Given the description of an element on the screen output the (x, y) to click on. 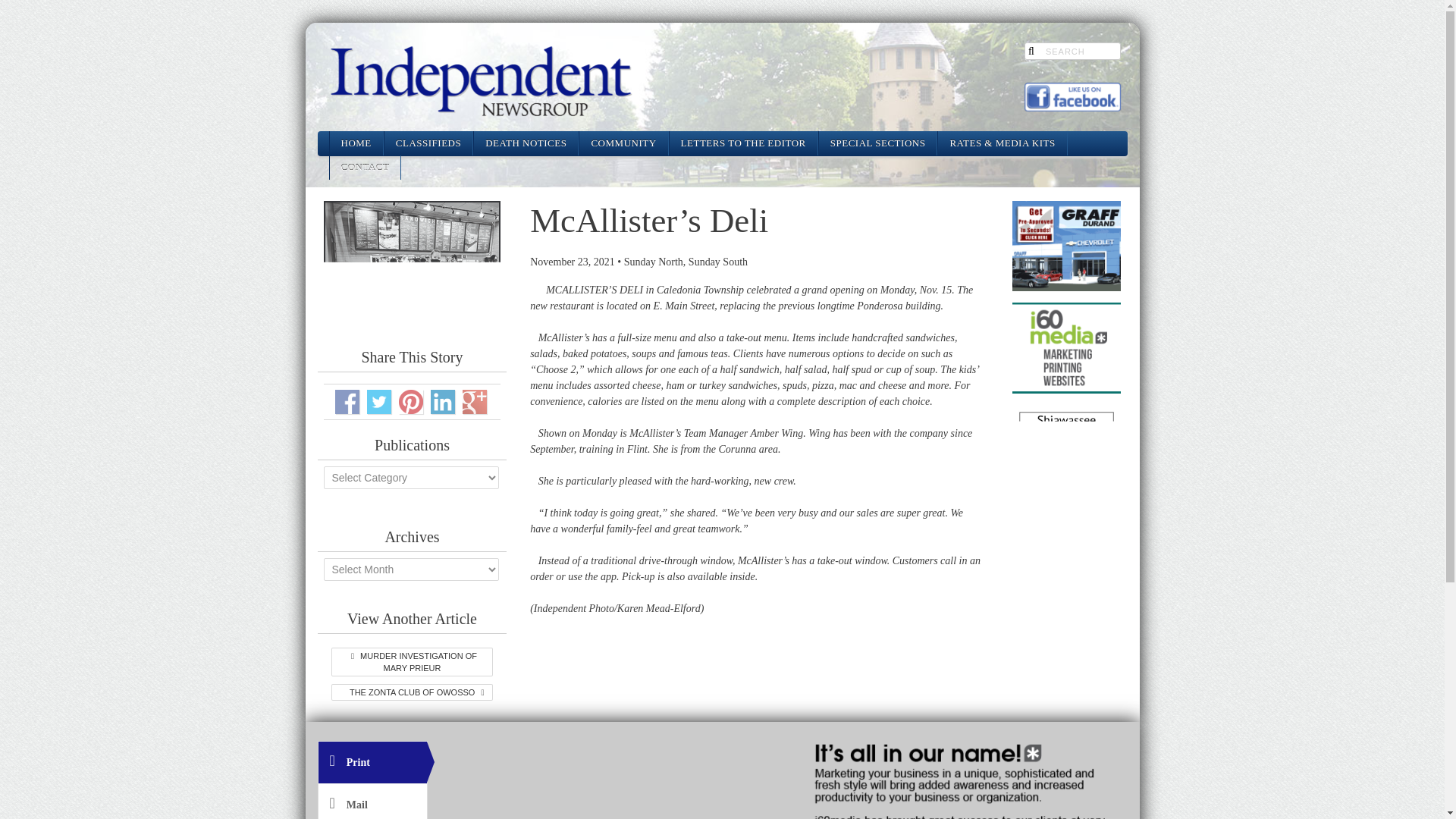
megamenu (427, 143)
CLASSIFIEDS (427, 143)
Pinterest (410, 401)
Share on Twitter (378, 401)
LETTERS TO THE EDITOR (742, 143)
Share on Pinterest (410, 401)
SPECIAL SECTIONS (877, 143)
Share on Linkedin (442, 401)
Facebook (346, 401)
Linkedin (442, 401)
